Given the description of an element on the screen output the (x, y) to click on. 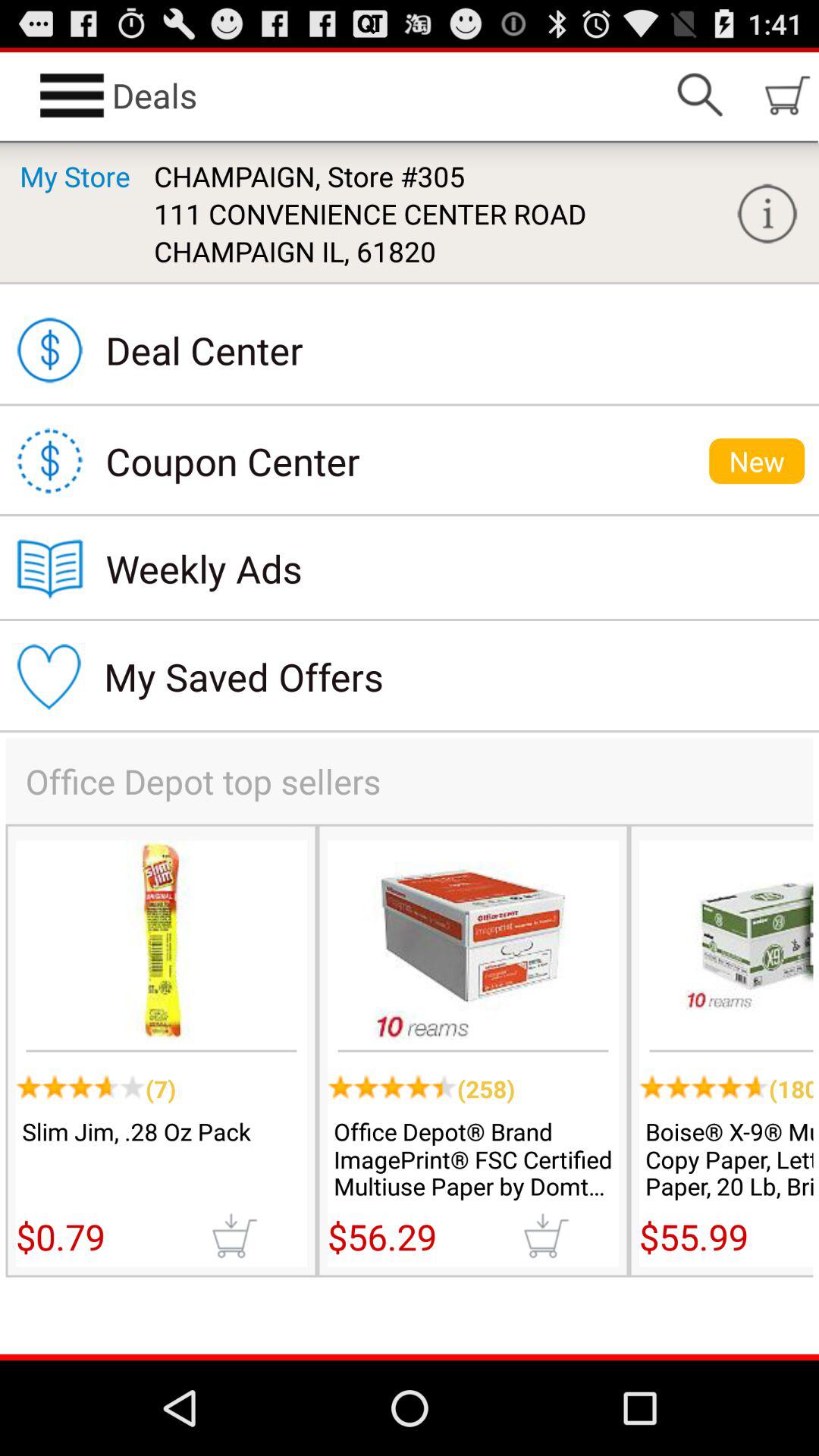
select more info option (767, 213)
